Given the description of an element on the screen output the (x, y) to click on. 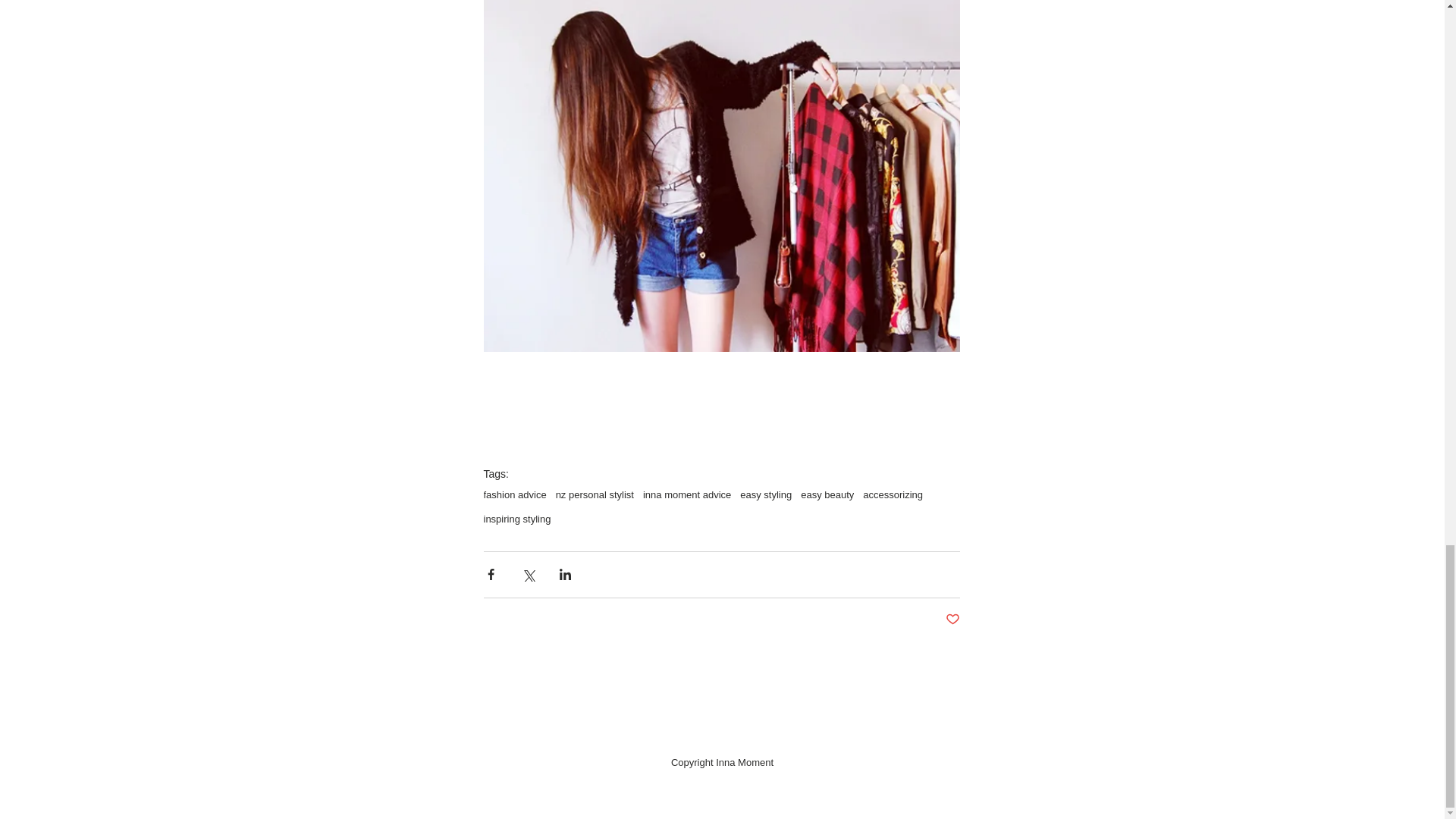
easy beauty (826, 494)
nz personal stylist (594, 494)
inspiring styling (517, 518)
easy styling (765, 494)
Post not marked as liked (951, 619)
accessorizing (893, 494)
inna moment advice (686, 494)
fashion advice (515, 494)
